Given the description of an element on the screen output the (x, y) to click on. 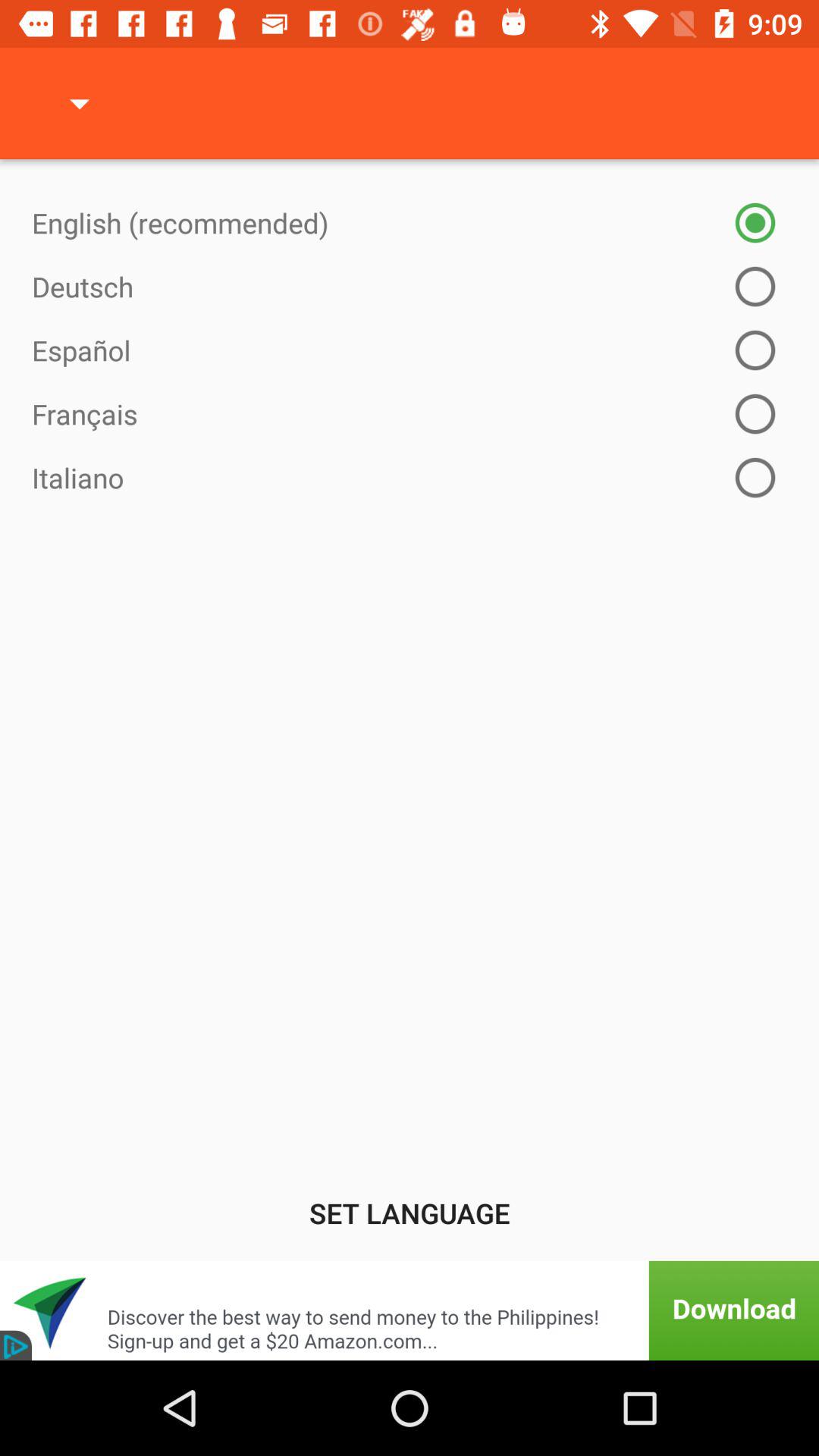
turn off set language item (409, 1212)
